Given the description of an element on the screen output the (x, y) to click on. 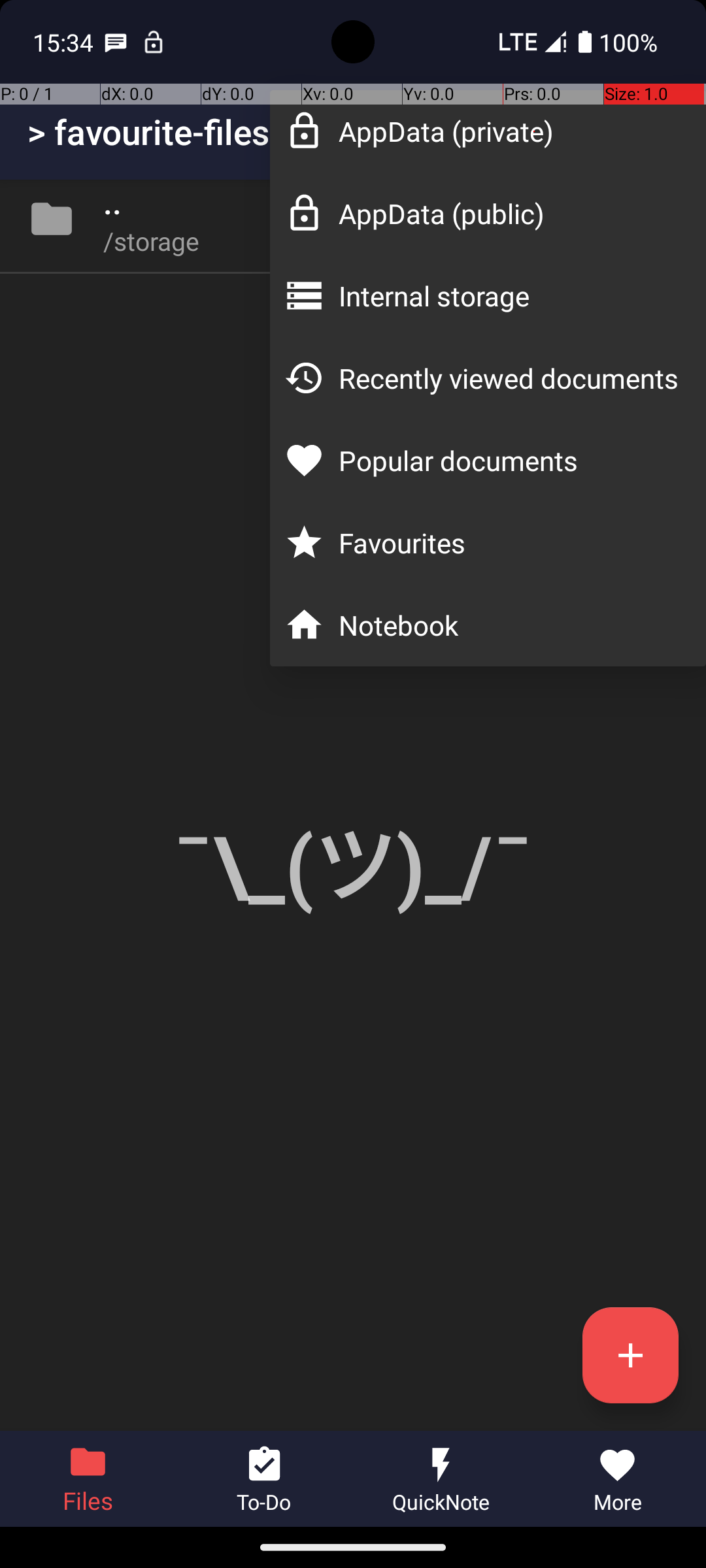
AppData (private) Element type: android.widget.TextView (508, 130)
AppData (public) Element type: android.widget.TextView (508, 212)
Internal storage Element type: android.widget.TextView (508, 295)
Recently viewed documents Element type: android.widget.TextView (508, 377)
Popular documents Element type: android.widget.TextView (508, 459)
Favourites Element type: android.widget.TextView (508, 542)
Notebook Element type: android.widget.TextView (508, 624)
